Given the description of an element on the screen output the (x, y) to click on. 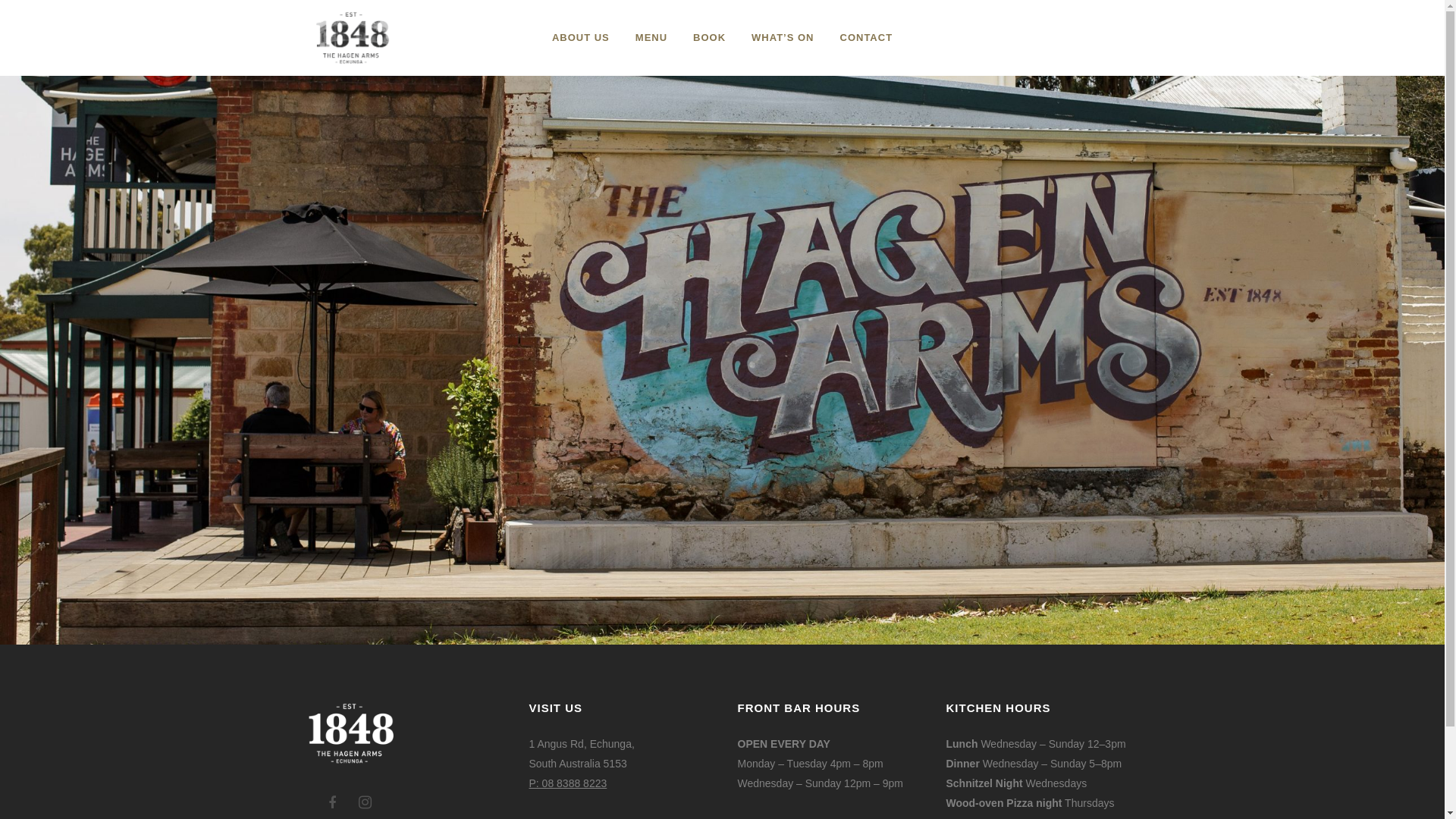
P: 08 8388 8223 Element type: text (568, 783)
ABOUT US Element type: text (580, 37)
CONTACT Element type: text (865, 37)
MENU Element type: text (651, 37)
BOOK Element type: text (709, 37)
